Given the description of an element on the screen output the (x, y) to click on. 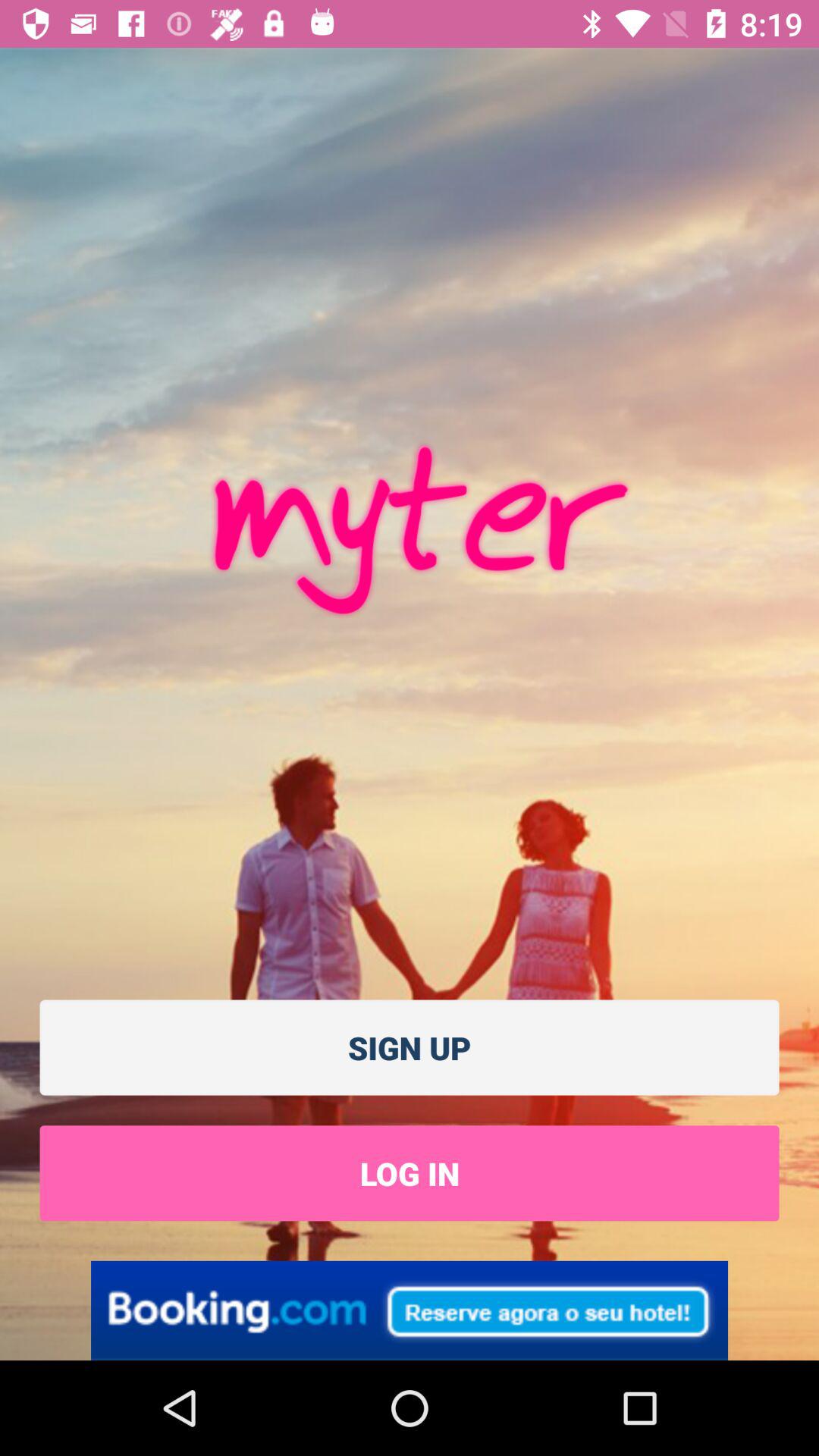
click advertisement (409, 1310)
